Given the description of an element on the screen output the (x, y) to click on. 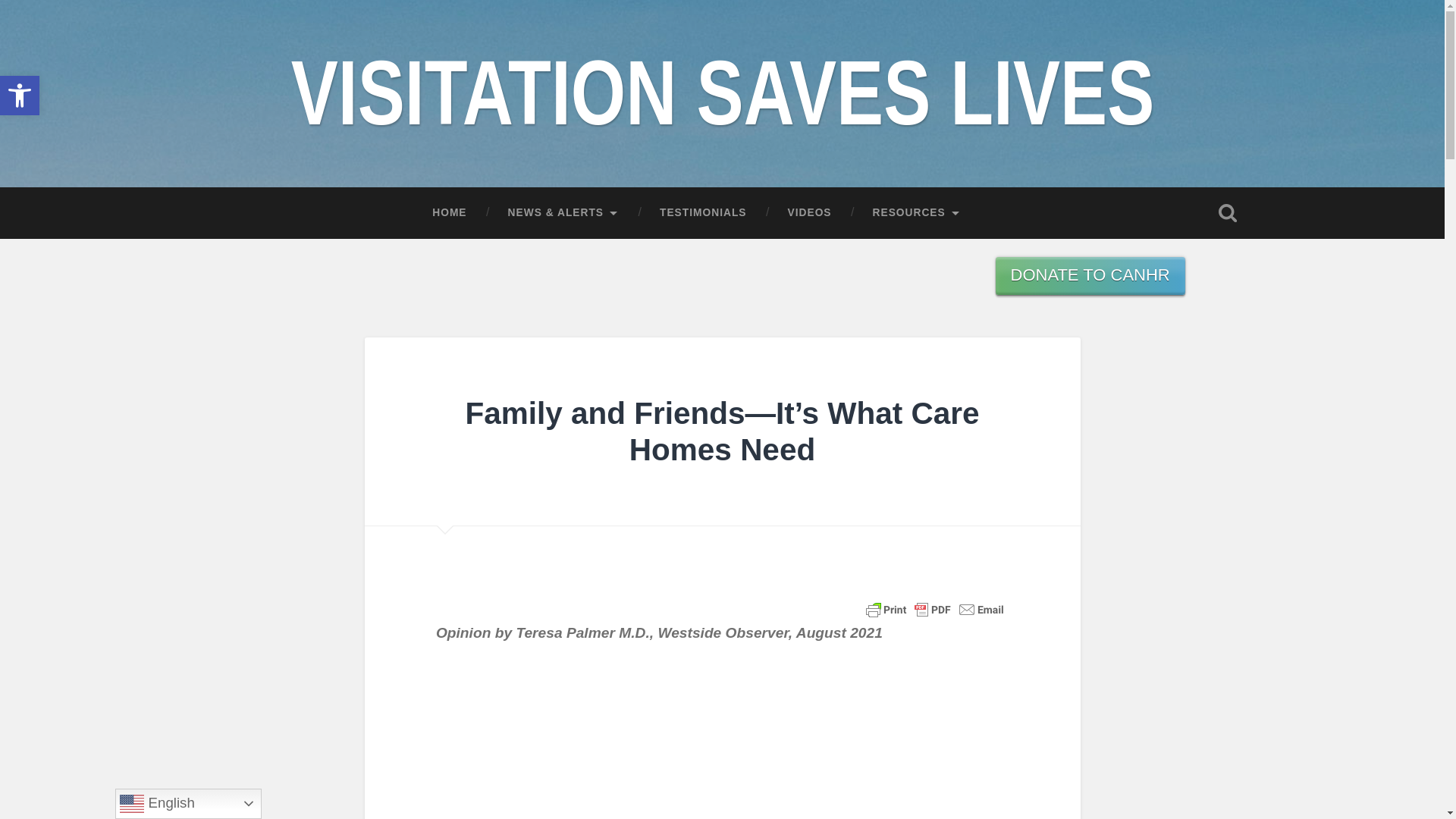
RESOURCES (916, 213)
VIDEOS (809, 213)
HOME (19, 95)
Accessibility Tools (449, 213)
Accessibility Tools (19, 95)
VISITATION SAVES LIVES (19, 95)
TESTIMONIALS (721, 80)
DONATE TO CANHR (703, 213)
